Given the description of an element on the screen output the (x, y) to click on. 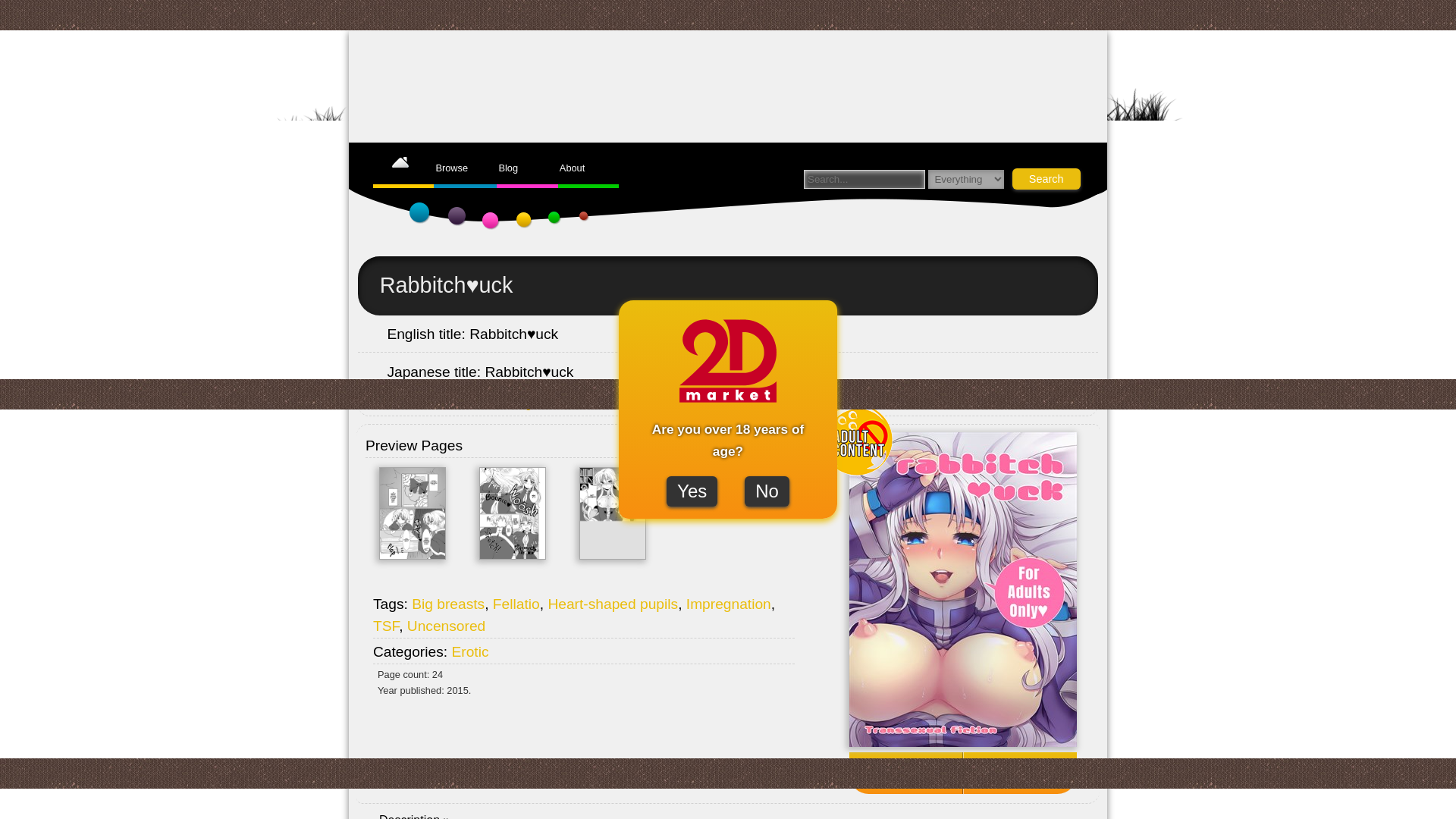
About (572, 167)
Erotic (469, 651)
Home (400, 167)
Blog (507, 167)
Heart-shaped pupils (612, 603)
Big breasts (448, 603)
No (766, 490)
Murasakiiro Orange (485, 403)
Browse (451, 167)
Impregnation (728, 603)
